Given the description of an element on the screen output the (x, y) to click on. 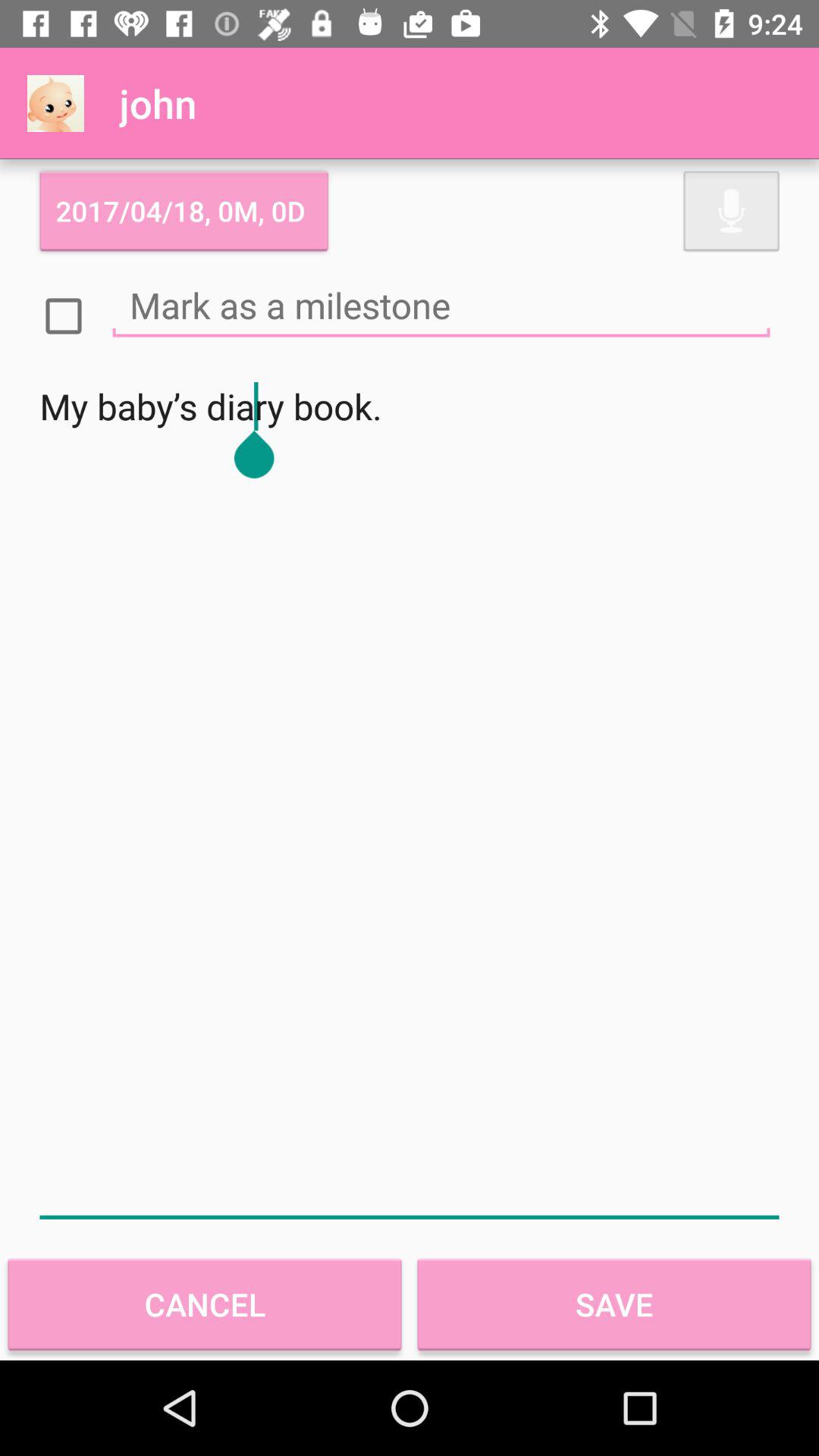
toggle box (63, 316)
